Given the description of an element on the screen output the (x, y) to click on. 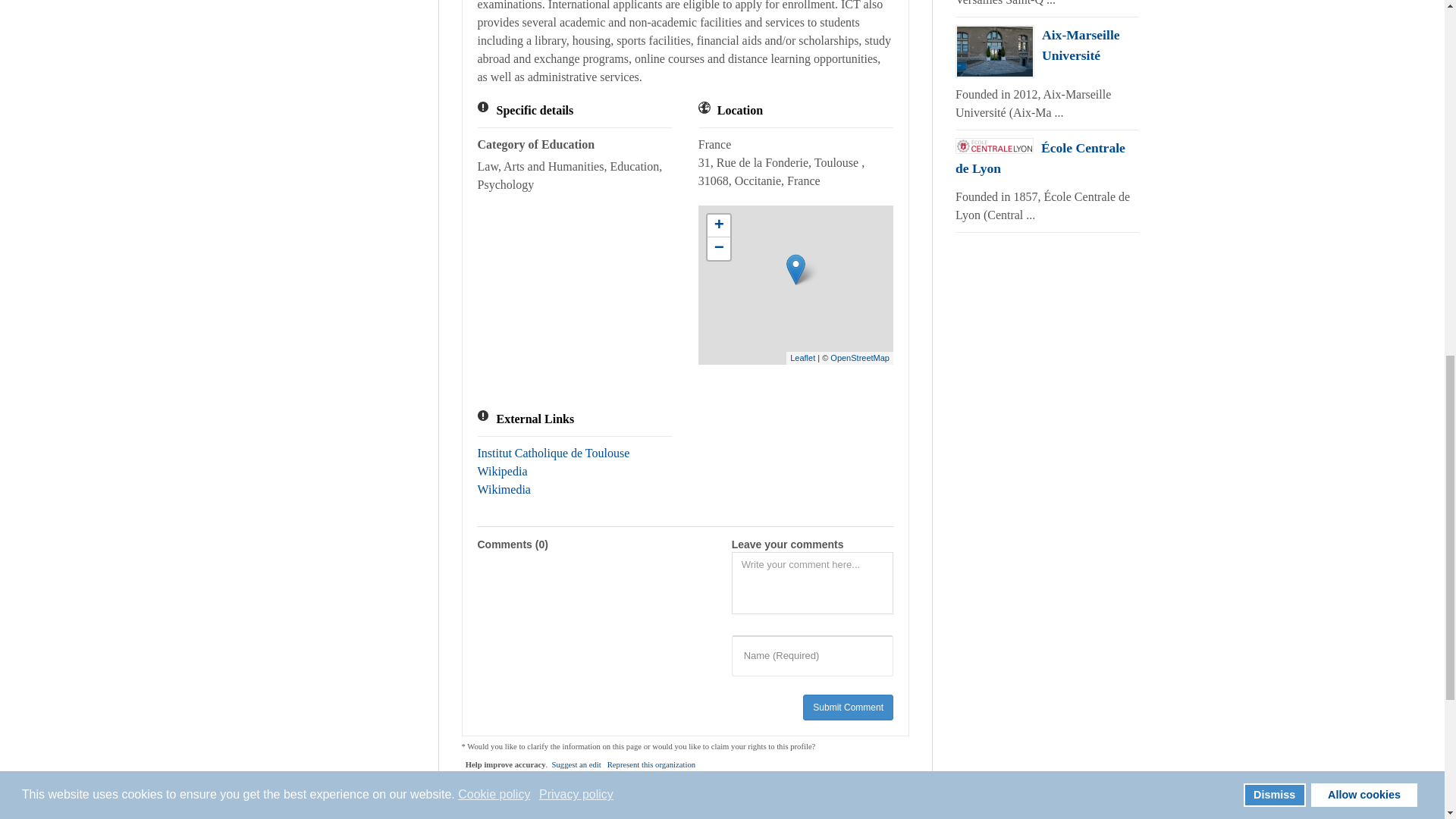
Wikimedia (504, 489)
Institut Catholique de Toulouse (553, 452)
Wikipedia (502, 471)
Zoom out (718, 248)
OpenStreetMap (859, 357)
Leaflet (802, 357)
Zoom in (718, 225)
A JS library for interactive maps (802, 357)
